Given the description of an element on the screen output the (x, y) to click on. 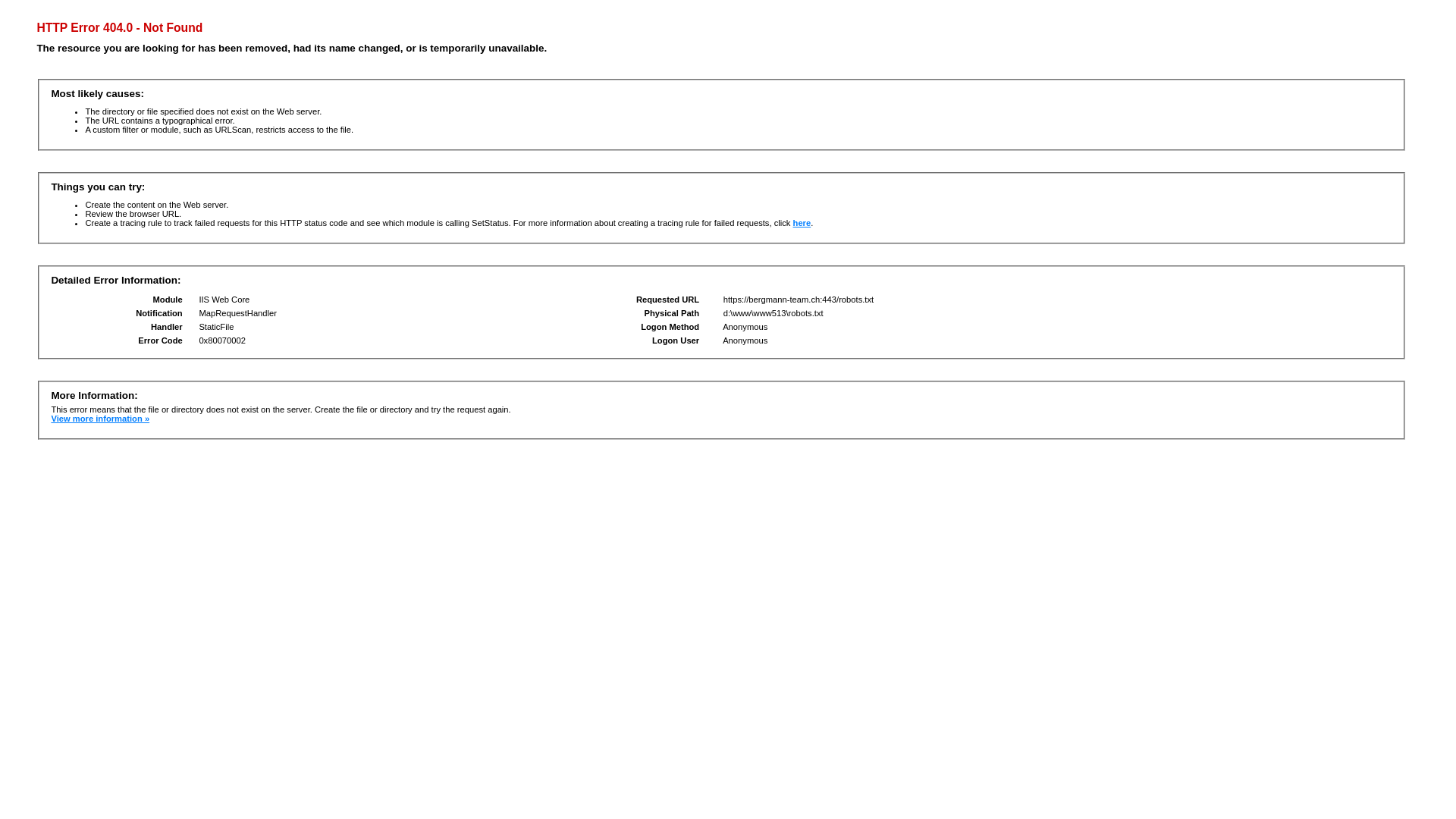
here Element type: text (802, 222)
